Given the description of an element on the screen output the (x, y) to click on. 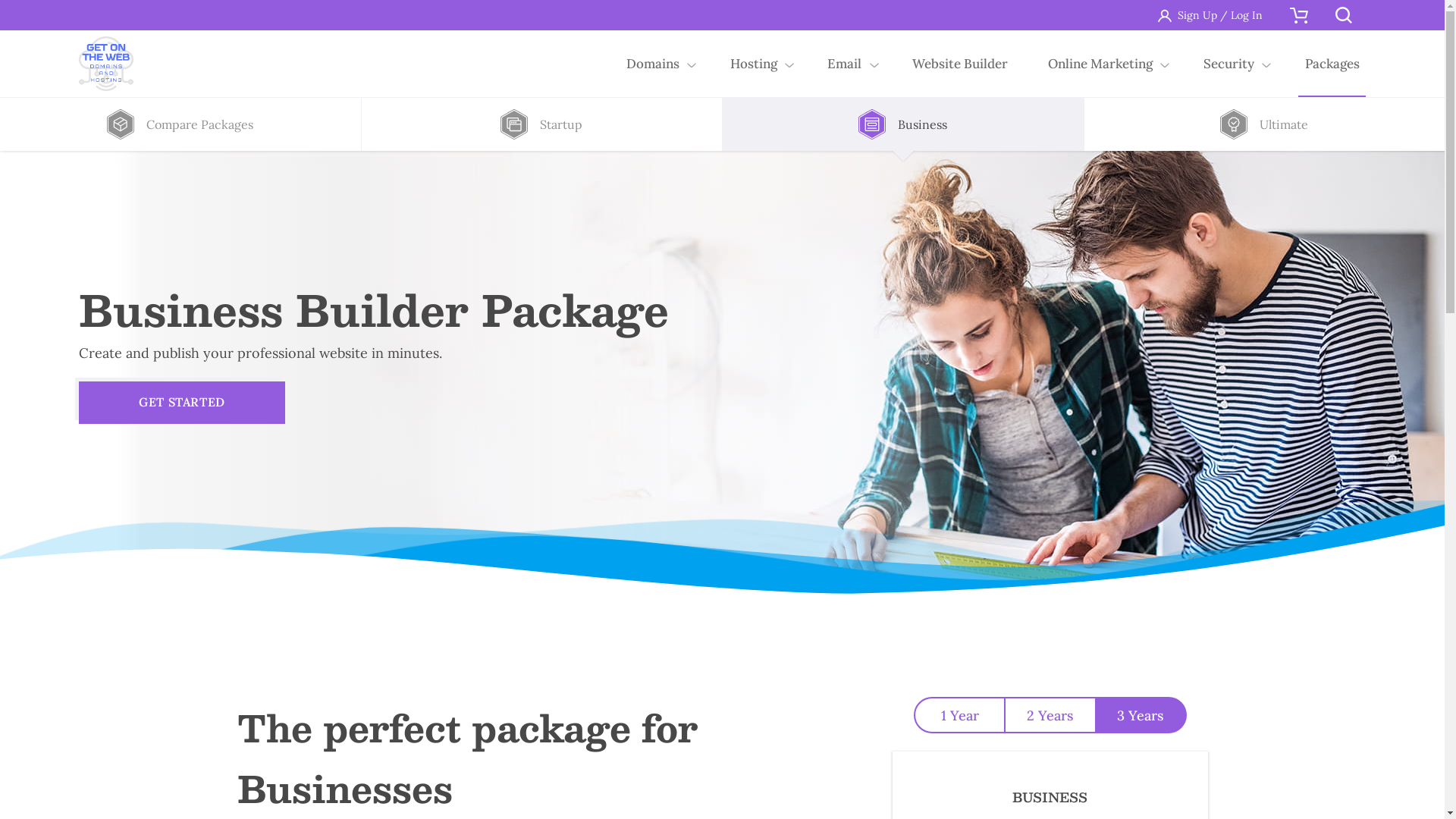
Online Marketing Element type: text (1100, 63)
Business Element type: text (902, 123)
Email Element type: text (844, 63)
Compare Packages Element type: text (180, 123)
Ultimate Element type: text (1264, 123)
Domains Element type: text (653, 63)
Hosting Element type: text (753, 63)
Security Element type: text (1228, 63)
Packages Element type: text (1331, 63)
Startup Element type: text (541, 123)
Website Builder Element type: text (960, 63)
GET STARTED Element type: text (181, 401)
